Given the description of an element on the screen output the (x, y) to click on. 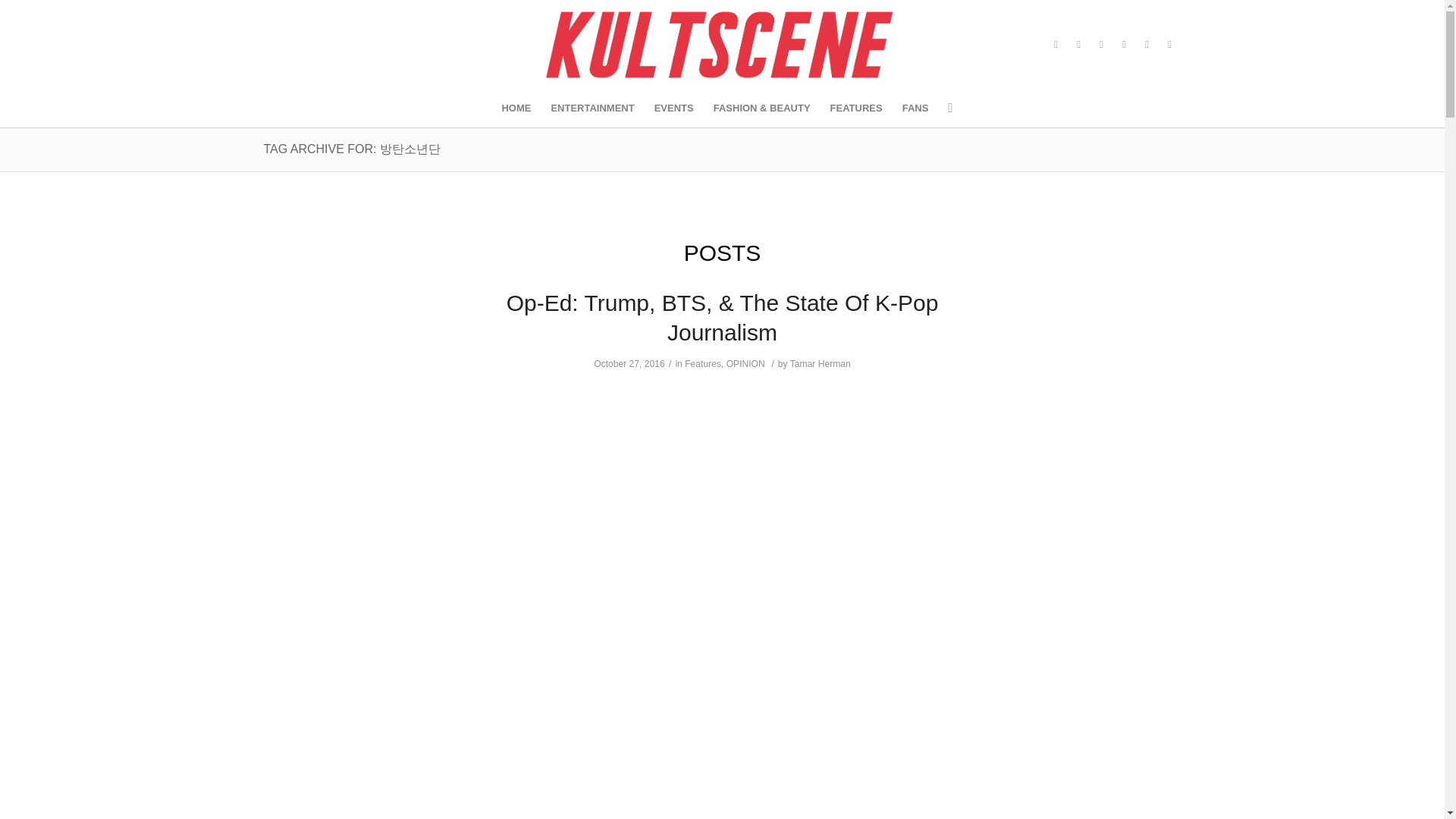
EVENTS (674, 108)
Features (702, 363)
Rss (1169, 44)
Tumblr (1101, 44)
Twitter (1078, 44)
OPINION (745, 363)
FANS (915, 108)
Posts by Tamar Herman (820, 363)
FEATURES (856, 108)
ENTERTAINMENT (591, 108)
